Given the description of an element on the screen output the (x, y) to click on. 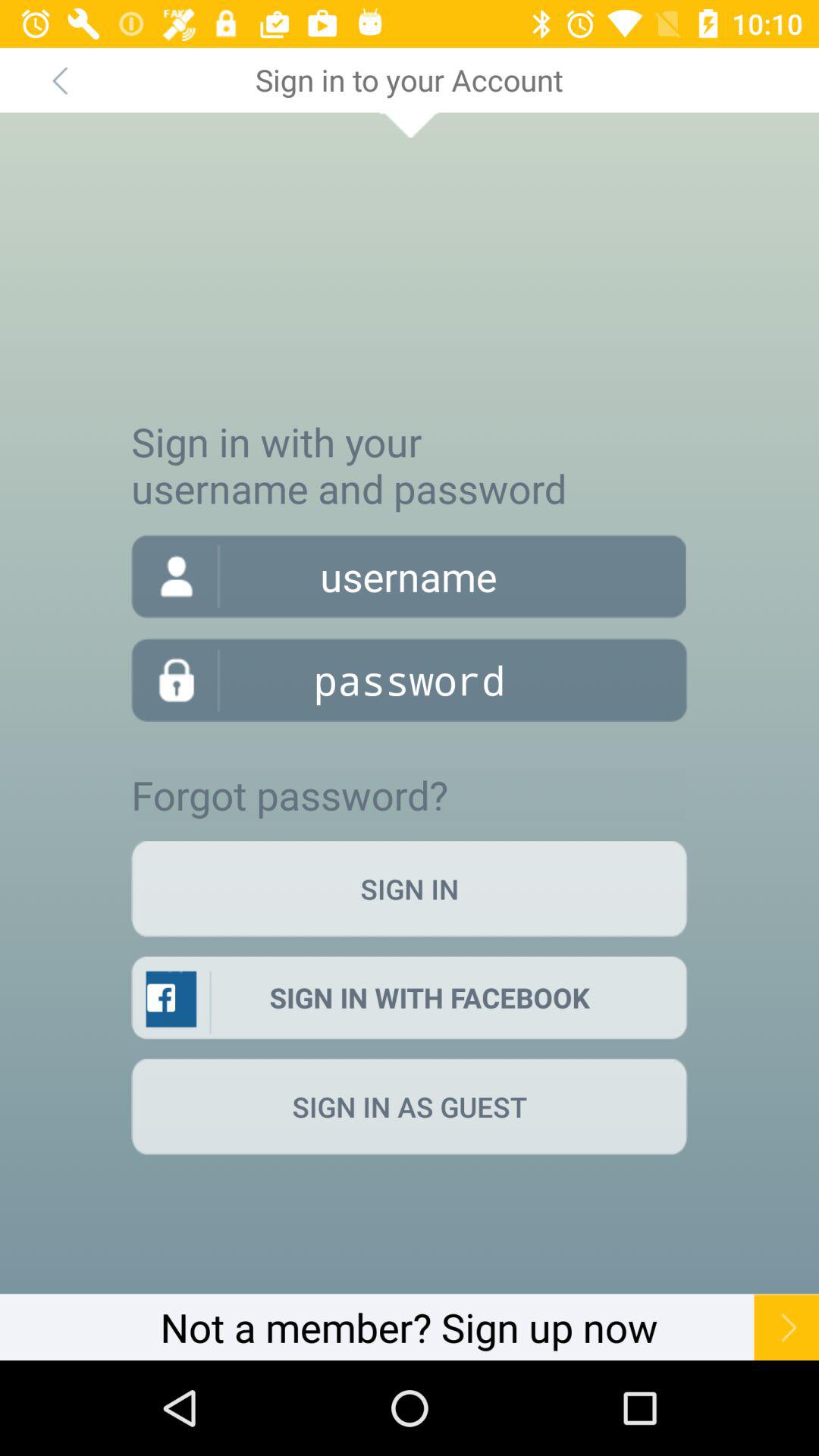
select icon to the left of the sign in to icon (59, 79)
